Given the description of an element on the screen output the (x, y) to click on. 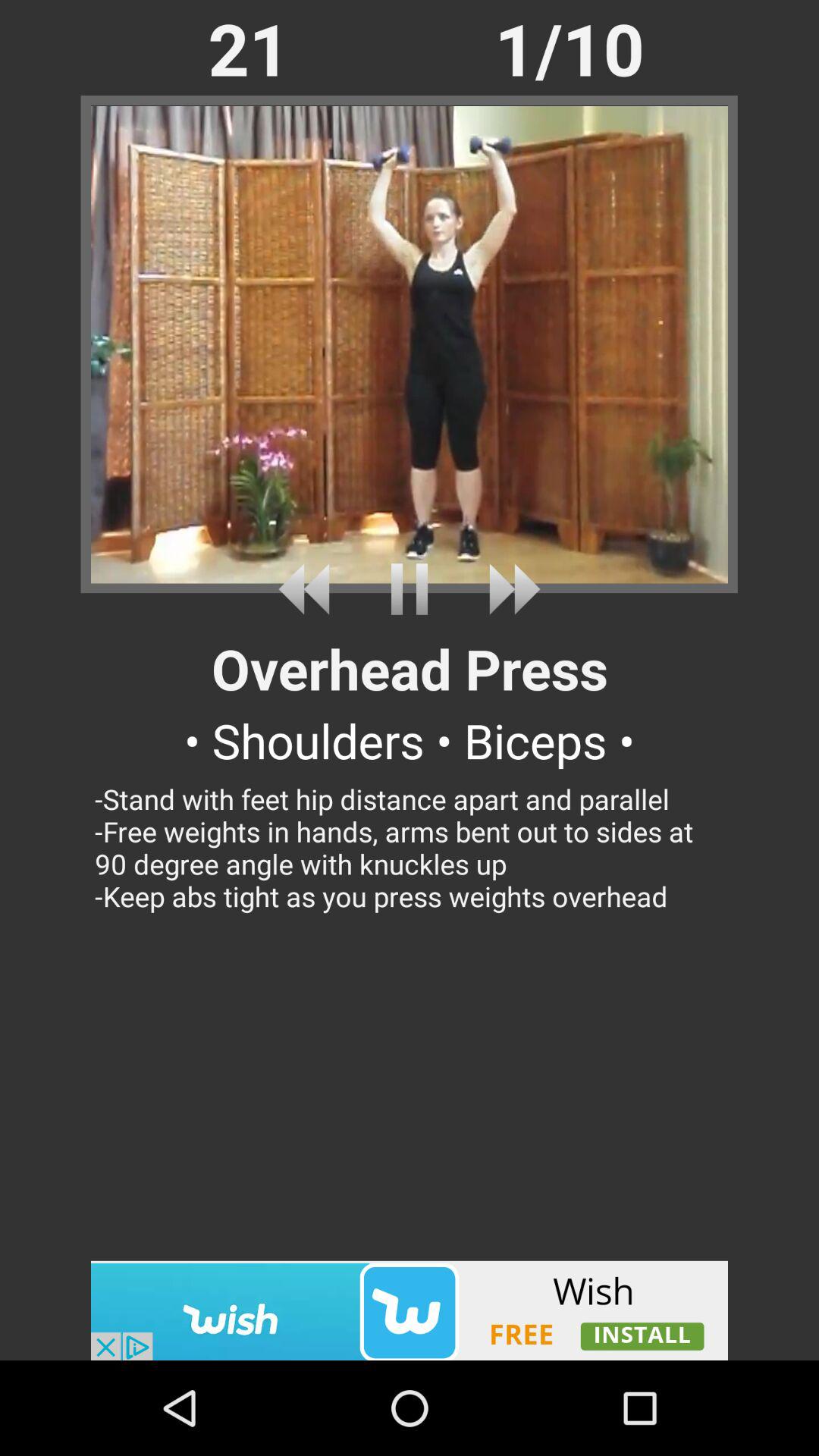
go to stop (409, 589)
